Given the description of an element on the screen output the (x, y) to click on. 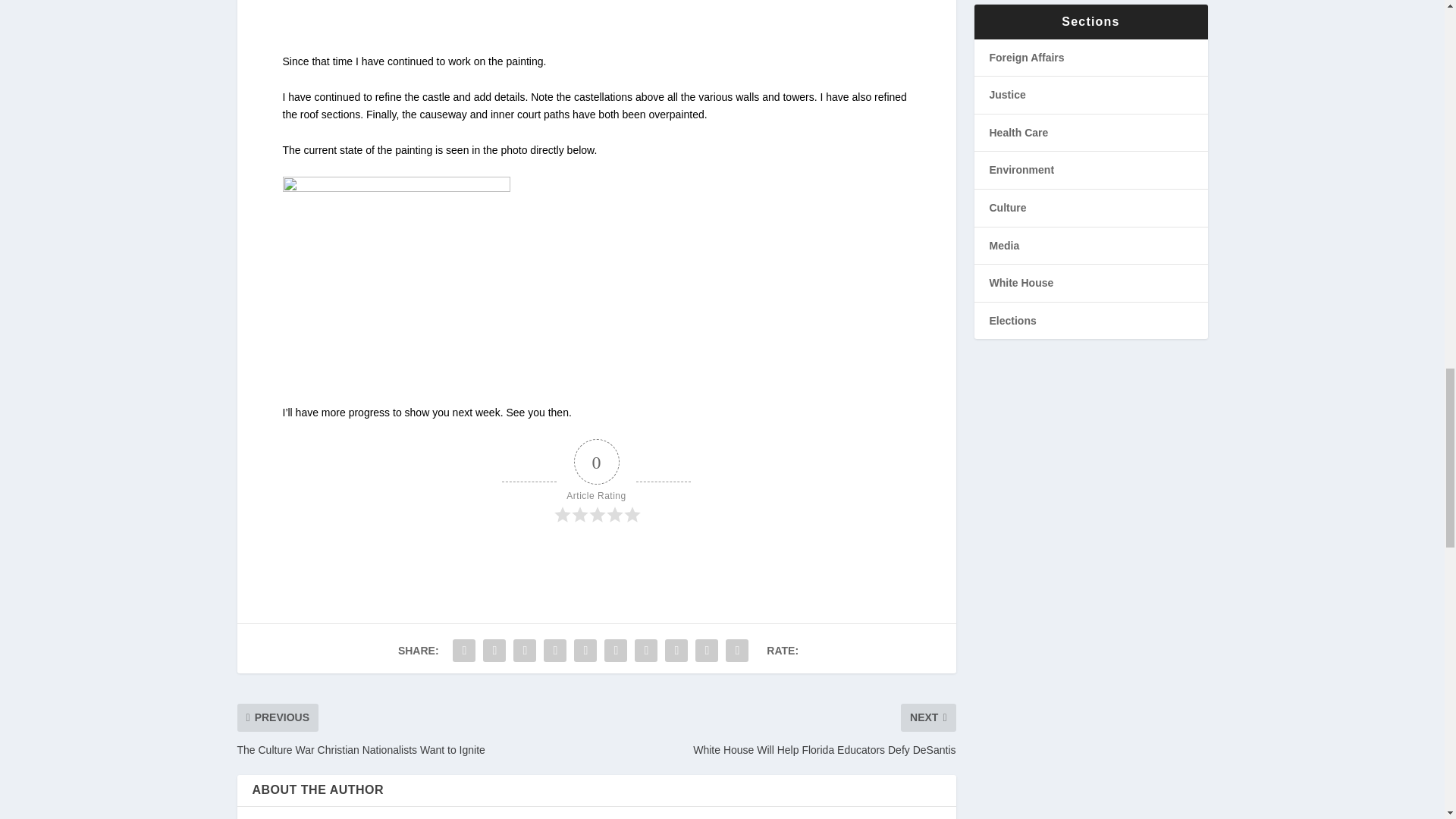
Share "Saturday Painting Palooza Vol.835" via Pinterest (584, 650)
Share "Saturday Painting Palooza Vol.835" via Email (706, 650)
Share "Saturday Painting Palooza Vol.835" via Stumbleupon (676, 650)
Share "Saturday Painting Palooza Vol.835" via Facebook (463, 650)
Share "Saturday Painting Palooza Vol.835" via Tumblr (555, 650)
Share "Saturday Painting Palooza Vol.835" via Twitter (494, 650)
Share "Saturday Painting Palooza Vol.835" via Buffer (645, 650)
Share "Saturday Painting Palooza Vol.835" via LinkedIn (614, 650)
